Given the description of an element on the screen output the (x, y) to click on. 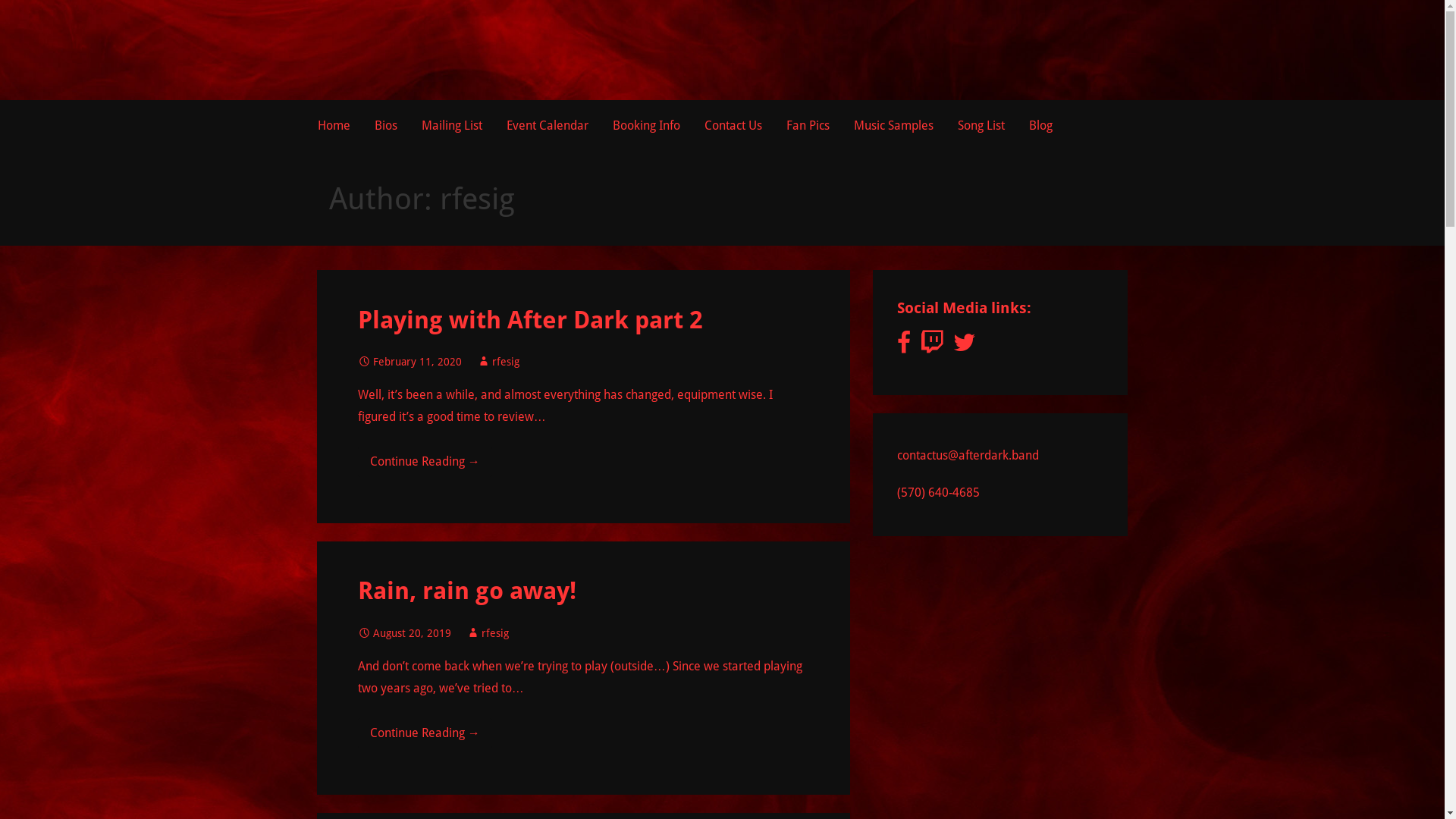
Fan Pics Element type: text (806, 125)
Playing with After Dark part 2 Element type: text (529, 319)
contactus@afterdark.band Element type: text (967, 455)
Visit Schuylkill After Dark on Twitter Element type: hover (964, 346)
Song List Element type: text (980, 125)
Mailing List Element type: text (451, 125)
Booking Info Element type: text (646, 125)
Home Element type: text (332, 125)
Rain, rain go away! Element type: text (466, 590)
Event Calendar Element type: text (547, 125)
Music Samples Element type: text (893, 125)
Bios Element type: text (385, 125)
Visit Schuylkill After Dark on Twitch Element type: hover (931, 346)
rfesig Element type: text (505, 361)
Schuylkill After Dark Element type: text (441, 68)
rfesig Element type: text (494, 633)
Contact Us Element type: text (732, 125)
Blog Element type: text (1039, 125)
Visit Schuylkill After Dark on Facebook Element type: hover (903, 346)
